Given the description of an element on the screen output the (x, y) to click on. 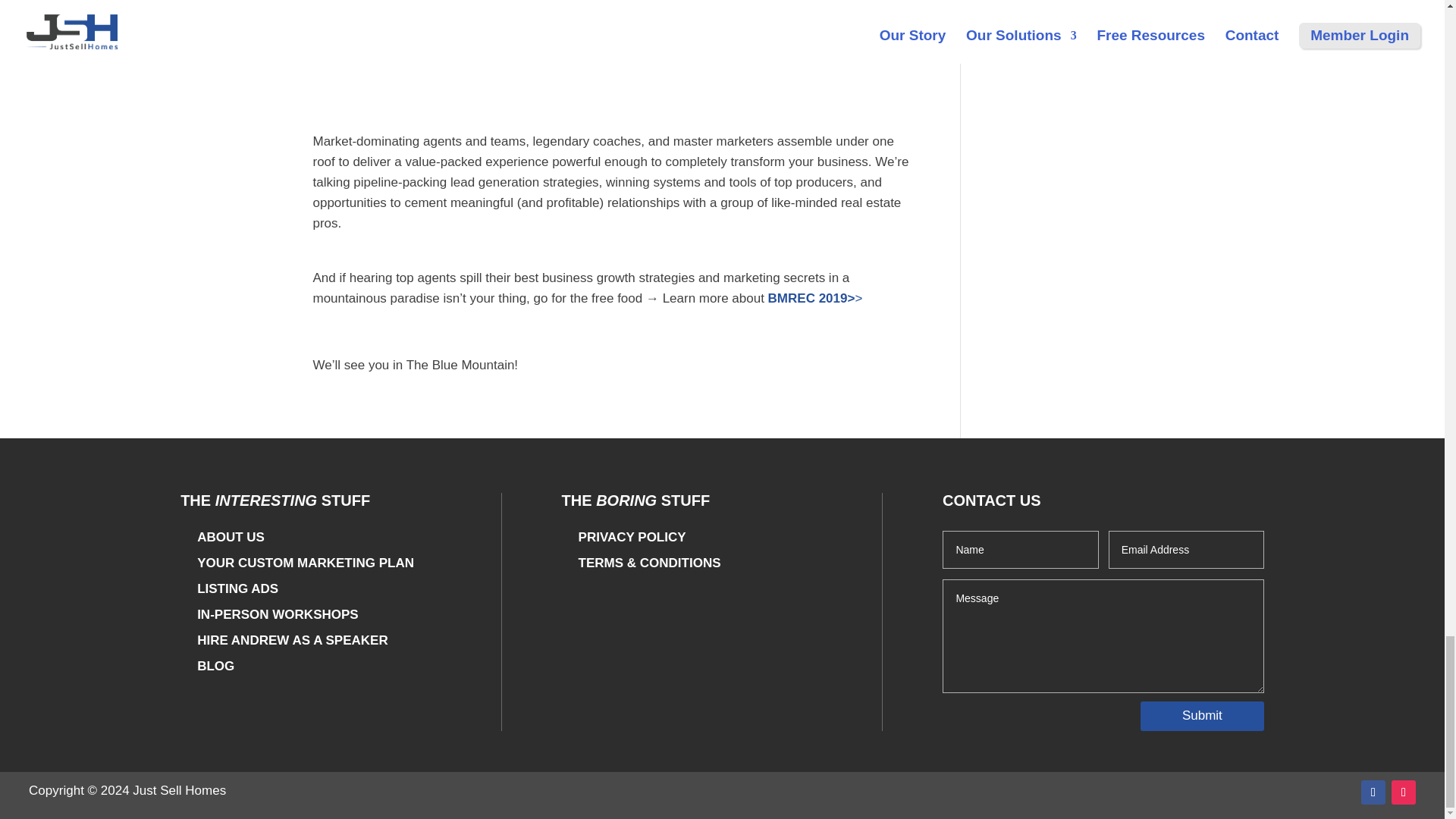
HIRE ANDREW AS A SPEAKER (292, 640)
BLOG (215, 666)
Follow on Instagram (1403, 792)
ABOUT US (230, 536)
Follow on Facebook (1373, 792)
LISTING ADS (237, 588)
YOUR CUSTOM MARKETING PLAN (304, 563)
